Given the description of an element on the screen output the (x, y) to click on. 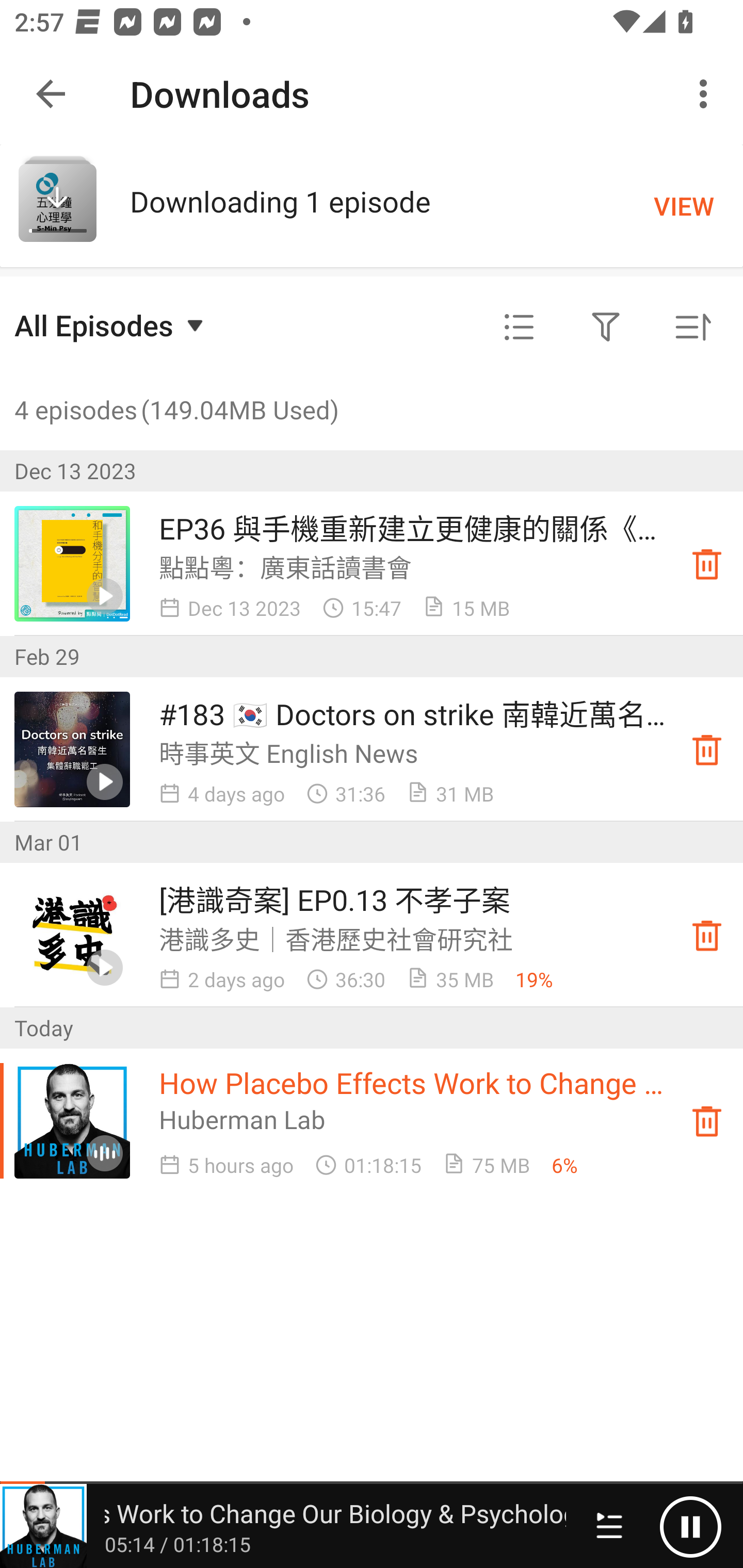
Navigate up (50, 93)
More options (706, 93)
5.0 Downloading 1 episode VIEW (371, 205)
All Episodes (111, 325)
 (518, 327)
 (605, 327)
 Sorted by oldest first (692, 327)
Downloaded (706, 563)
Downloaded (706, 749)
Downloaded (706, 935)
Downloaded (706, 1121)
Pause (690, 1526)
